Given the description of an element on the screen output the (x, y) to click on. 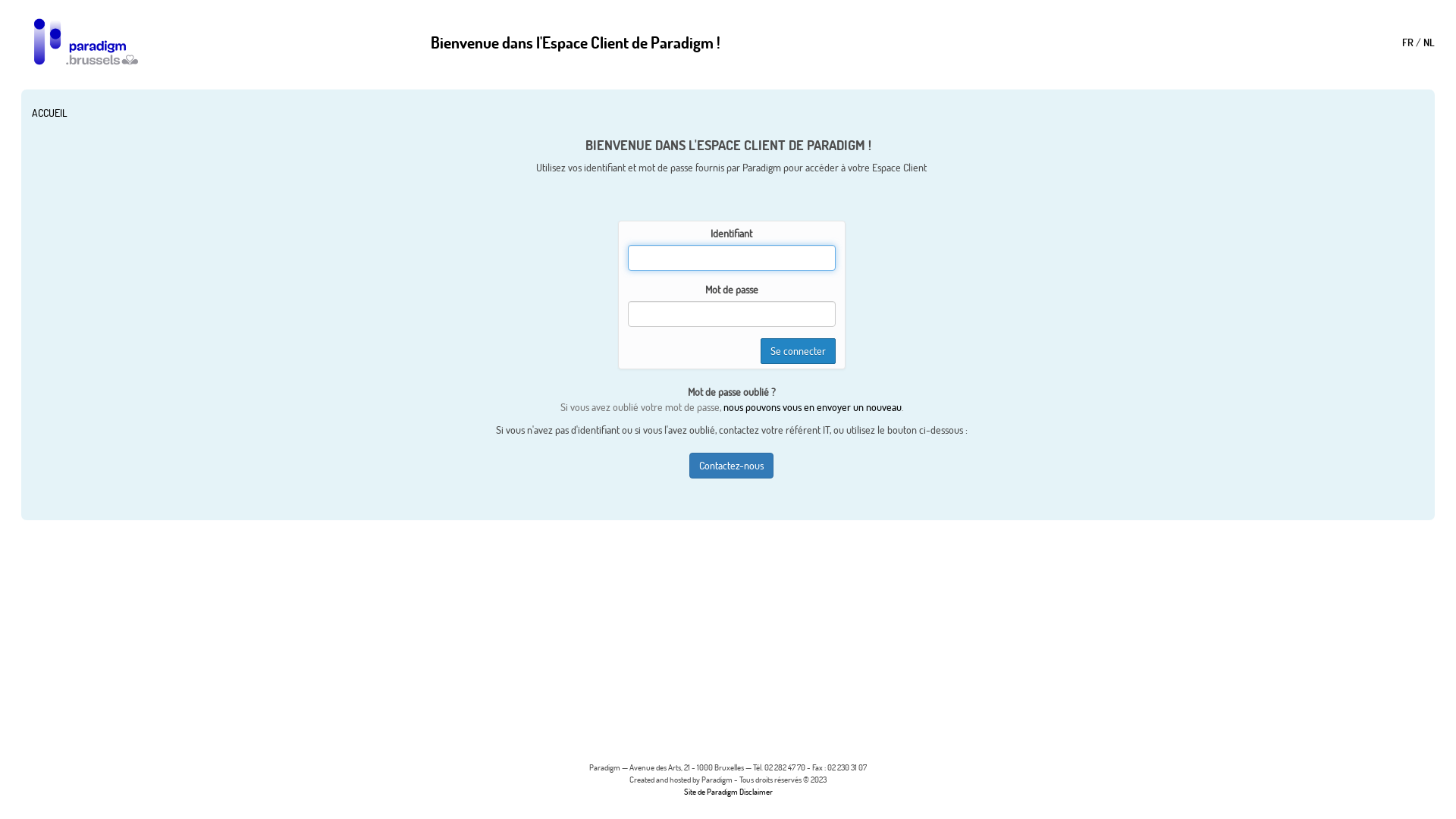
FR Element type: text (1407, 41)
ACCUEIL Element type: text (49, 112)
nous pouvons vous en envoyer un nouveau Element type: text (812, 407)
Contactez-nous Element type: text (731, 465)
Se connecter Element type: text (797, 351)
Site de Paradigm Element type: text (710, 791)
Disclaimer Element type: text (754, 791)
Bienvenue dans l'Espace Client de Paradigm ! Element type: text (575, 41)
NL Element type: text (1428, 41)
